Given the description of an element on the screen output the (x, y) to click on. 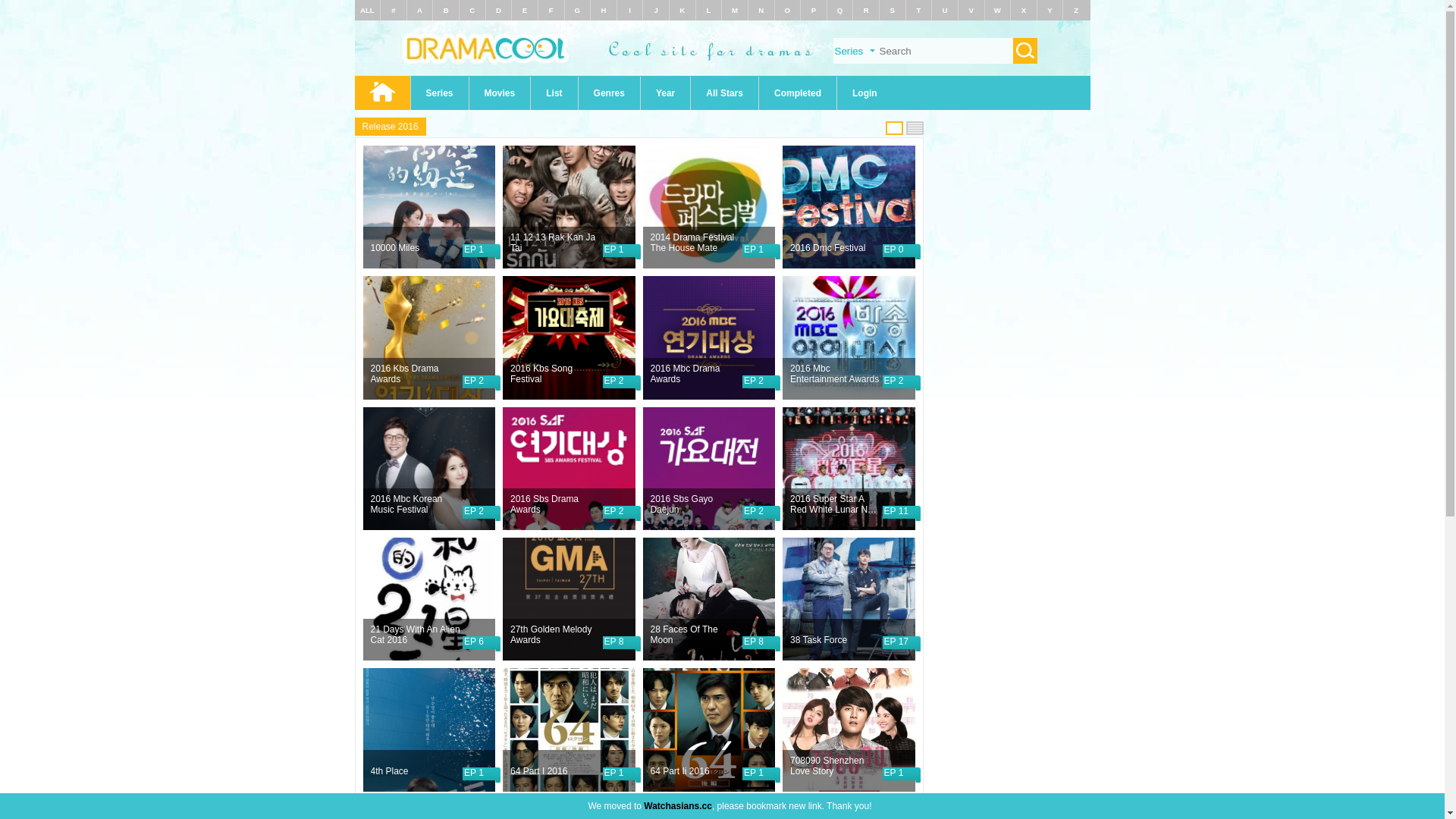
2016 Sbs Drama Awards
EP 2 Element type: text (568, 468)
2016 Super Star A Red White Lunar New Year Special
EP 11 Element type: text (848, 468)
38 Task Force Element type: text (835, 639)
A Element type: text (419, 10)
H Element type: text (602, 10)
ALL Element type: text (367, 10)
W Element type: text (997, 10)
2016 Sbs Gayo Daejun Element type: text (695, 503)
2016 Kbs Drama Awards Element type: text (415, 373)
2016 Sbs Gayo Daejun
EP 2 Element type: text (709, 468)
E Element type: text (524, 10)
2016 Mbc Drama Awards Element type: text (695, 373)
Z Element type: text (1075, 10)
G Element type: text (577, 10)
10000 Miles
EP 1 Element type: text (428, 206)
Q Element type: text (839, 10)
2014 Drama Festival The House Mate
EP 1 Element type: text (709, 206)
List Element type: text (553, 92)
2016 Kbs Song Festival Element type: text (555, 373)
T Element type: text (918, 10)
21 Days With An Alien Cat 2016
EP 6 Element type: text (428, 598)
2016 Mbc Drama Awards
EP 2 Element type: text (709, 337)
2016 Mbc Korean Music Festival Element type: text (415, 503)
L Element type: text (708, 10)
F Element type: text (551, 10)
C Element type: text (471, 10)
All Stars Element type: text (724, 92)
2016 Kbs Drama Awards
EP 2 Element type: text (428, 337)
# Element type: text (393, 10)
64 Part I 2016 Element type: text (555, 770)
4th Place Element type: text (415, 770)
2016 Dmc Festival Element type: text (835, 247)
21 Days With An Alien Cat 2016 Element type: text (415, 634)
K Element type: text (681, 10)
Year Element type: text (665, 92)
64 Part Ii 2016
EP 1 Element type: text (709, 729)
Y Element type: text (1049, 10)
11 12 13 Rak Kan Ja Tai
EP 1 Element type: text (568, 206)
64 Part I 2016
EP 1 Element type: text (568, 729)
708090 Shenzhen Love Story
EP 1 Element type: text (848, 729)
2016 Mbc Entertainment Awards
EP 2 Element type: text (848, 337)
4th Place
EP 1 Element type: text (428, 729)
Movies Element type: text (499, 92)
Series Element type: text (439, 92)
U Element type: text (944, 10)
2014 Drama Festival The House Mate Element type: text (695, 242)
Home Element type: hover (722, 72)
D Element type: text (498, 10)
64 Part Ii 2016 Element type: text (695, 770)
2016 Sbs Drama Awards Element type: text (555, 503)
28 Faces Of The Moon Element type: text (695, 634)
S Element type: text (892, 10)
M Element type: text (734, 10)
708090 Shenzhen Love Story Element type: text (835, 765)
Genres Element type: text (609, 92)
28 Faces Of The Moon
EP 8 Element type: text (709, 598)
38 Task Force
EP 17 Element type: text (848, 598)
X Element type: text (1023, 10)
Watchasians.cc Element type: text (677, 805)
Completed Element type: text (797, 92)
11 12 13 Rak Kan Ja Tai Element type: text (555, 242)
2016 Super Star A Red White Lunar New Year Special Element type: text (835, 503)
Login Element type: text (864, 92)
R Element type: text (866, 10)
2016 Mbc Entertainment Awards Element type: text (835, 373)
N Element type: text (760, 10)
B Element type: text (445, 10)
Home Element type: hover (382, 92)
2016 Mbc Korean Music Festival
EP 2 Element type: text (428, 468)
10000 Miles Element type: text (415, 247)
I Element type: text (629, 10)
O Element type: text (787, 10)
2016 Dmc Festival
EP 0 Element type: text (848, 206)
J Element type: text (656, 10)
27th Golden Melody Awards Element type: text (555, 634)
2016 Kbs Song Festival
EP 2 Element type: text (568, 337)
27th Golden Melody Awards
EP 8 Element type: text (568, 598)
P Element type: text (813, 10)
V Element type: text (970, 10)
